Given the description of an element on the screen output the (x, y) to click on. 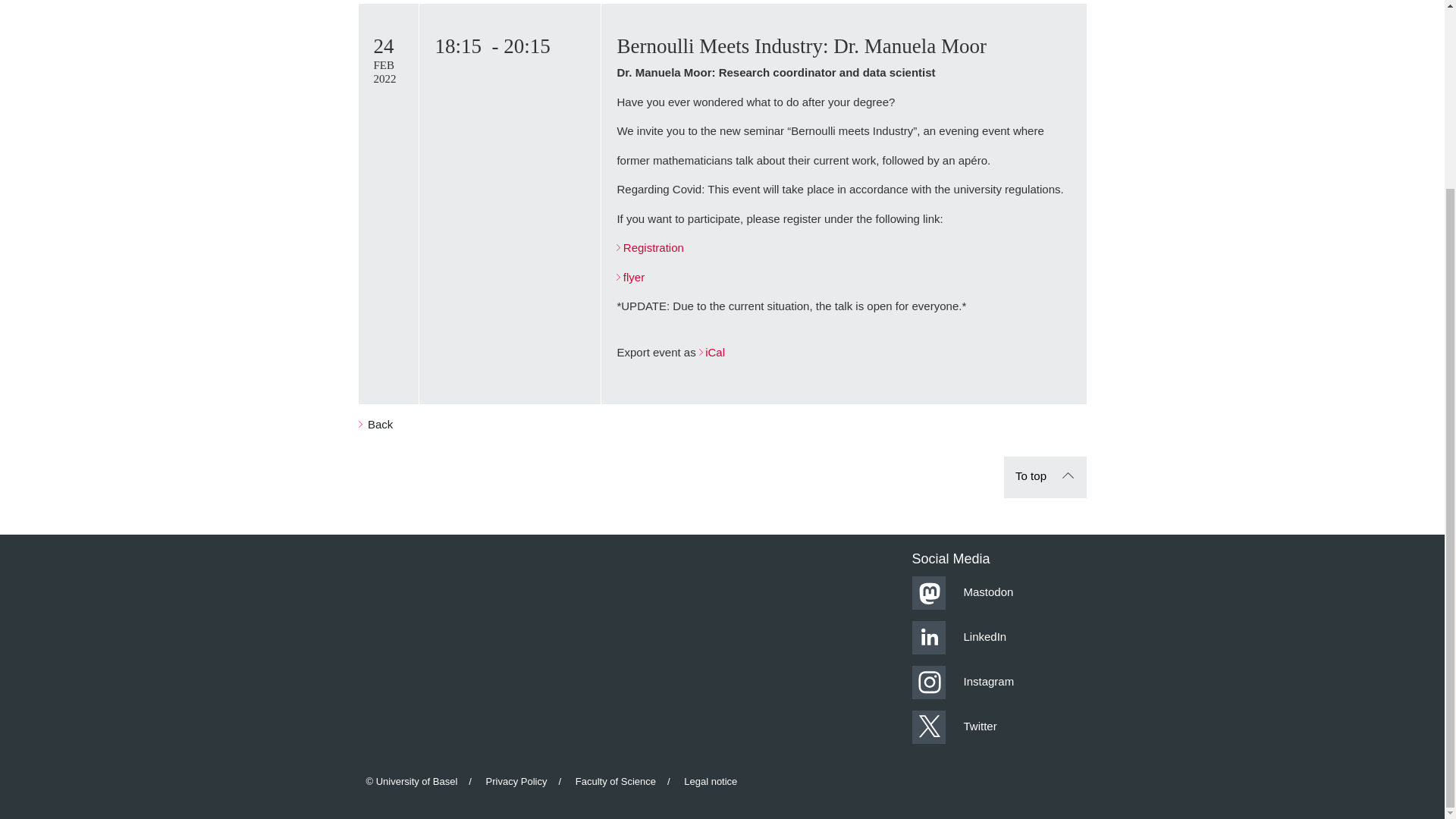
Instagram (962, 680)
To top (1045, 476)
Mastodon (995, 592)
Twitter (995, 726)
Bernoulli Meets Industry: Dr. Manuela Moor (711, 351)
LinkedIn (995, 637)
Back (375, 423)
LinkedIn (958, 635)
Legal notice (710, 781)
flyer (630, 277)
Instagram (995, 682)
Privacy Policy (516, 781)
iCal (711, 351)
Twitter (953, 725)
Mastodon (962, 591)
